Given the description of an element on the screen output the (x, y) to click on. 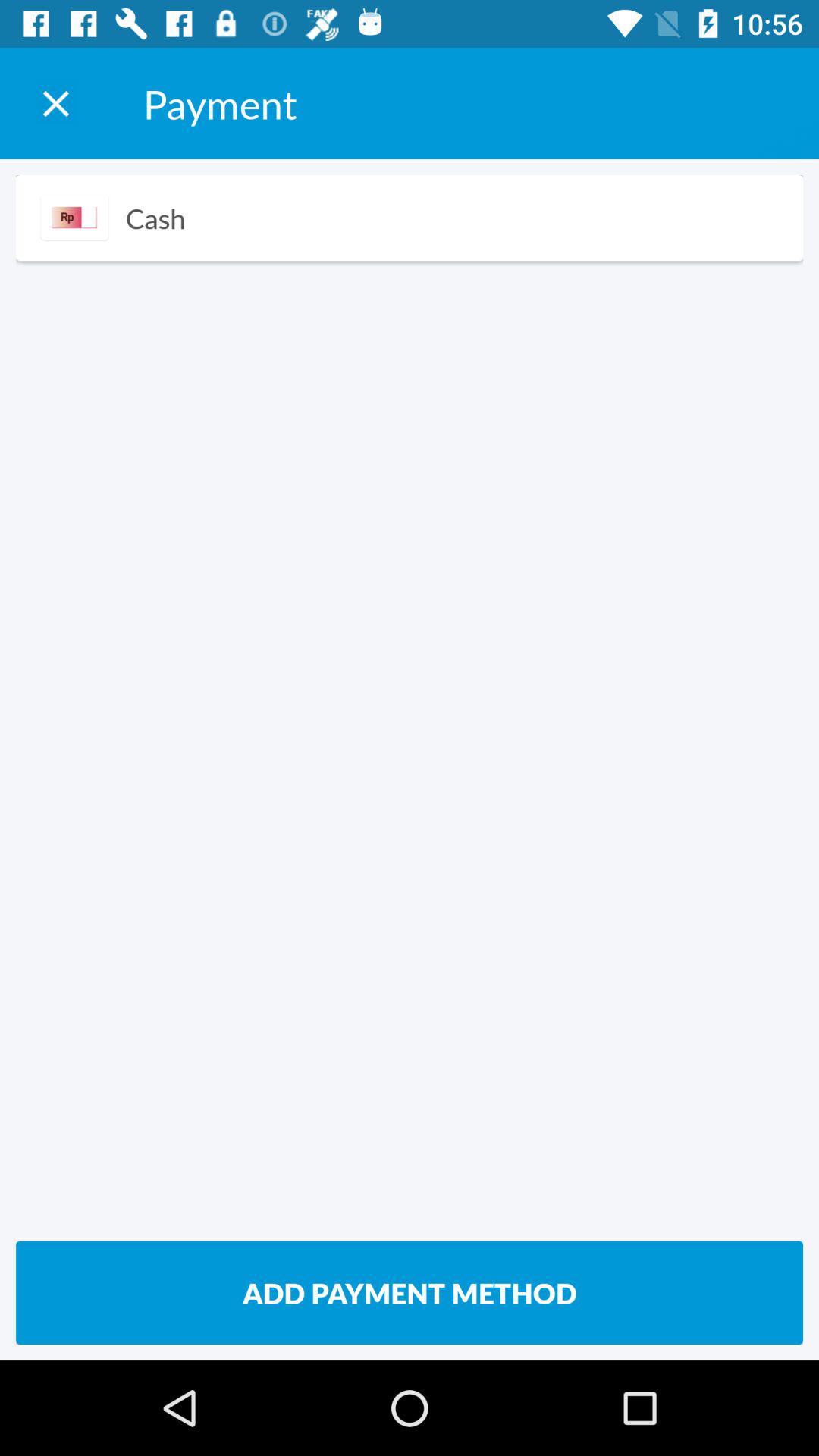
close the payment window (55, 103)
